Given the description of an element on the screen output the (x, y) to click on. 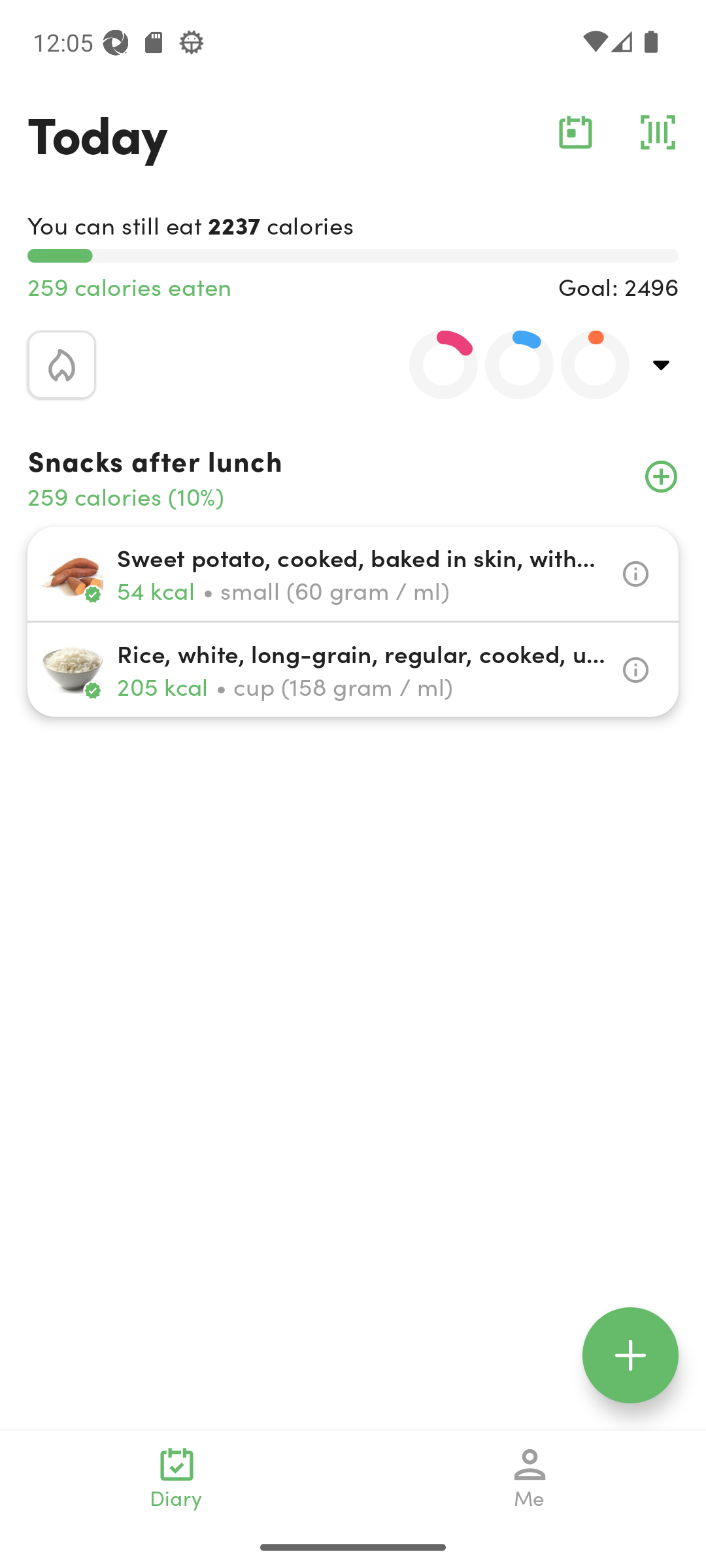
calendar_action (575, 132)
barcode_action (658, 132)
calorie_icon (62, 365)
0.15 0.09 0.01 (508, 365)
top_right_action (661, 365)
info_icon (636, 573)
info_icon (636, 669)
floating_action_icon (630, 1355)
Me navigation_icon (529, 1478)
